Given the description of an element on the screen output the (x, y) to click on. 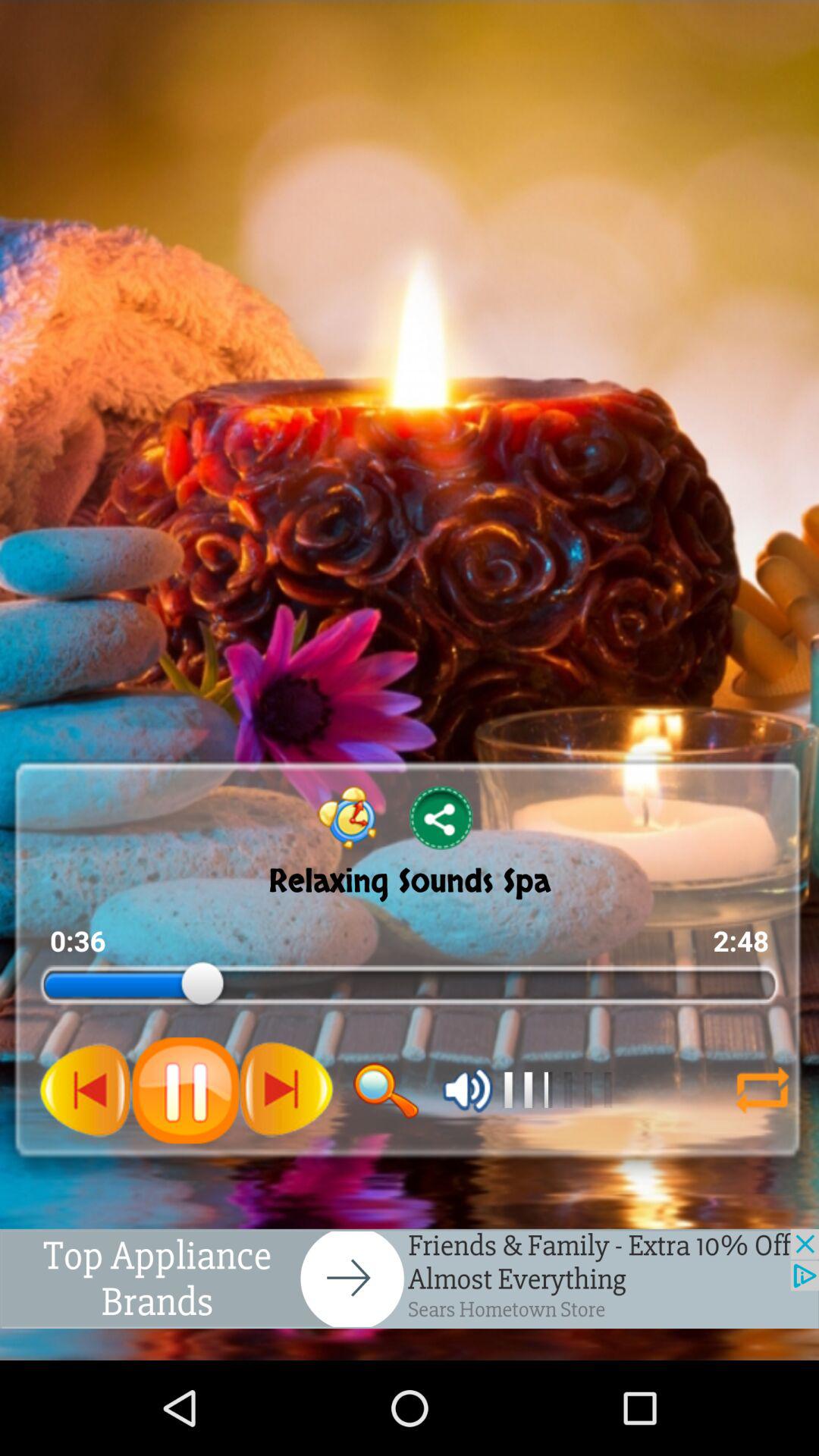
click on swap icon (762, 1090)
click on pause button (185, 1089)
click on icon left to share icon (347, 818)
